Given the description of an element on the screen output the (x, y) to click on. 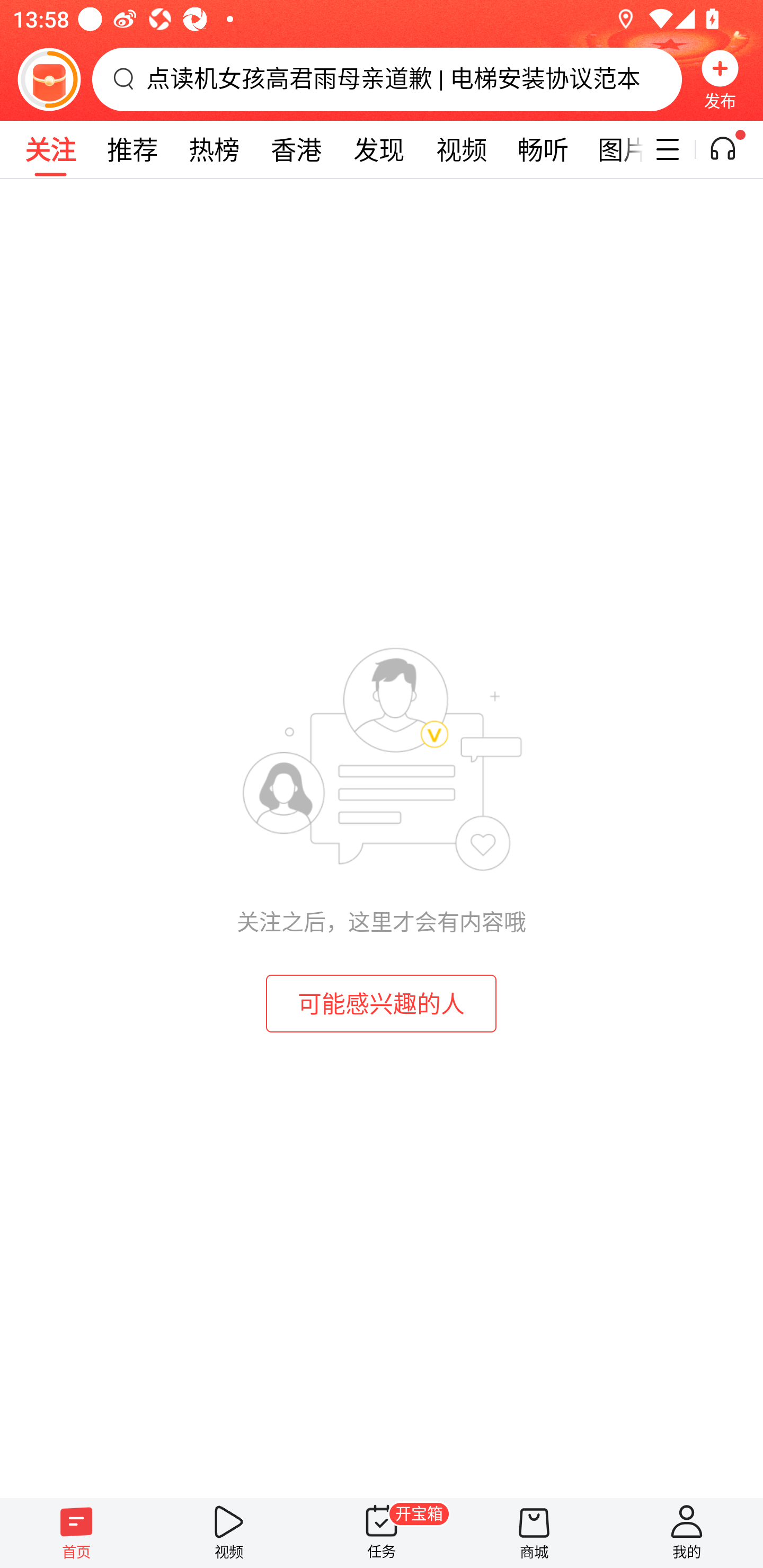
阅读赚金币 (48, 79)
发布 发布，按钮 (720, 78)
关注 (50, 149)
推荐 (132, 149)
热榜 (213, 149)
香港 (295, 149)
发现 (378, 149)
视频 (461, 149)
畅听 (542, 149)
图片 (613, 149)
听一听开关 (732, 149)
可能感兴趣的人 (381, 1003)
首页 (76, 1532)
视频 (228, 1532)
任务 开宝箱 (381, 1532)
商城 (533, 1532)
我的 (686, 1532)
